Given the description of an element on the screen output the (x, y) to click on. 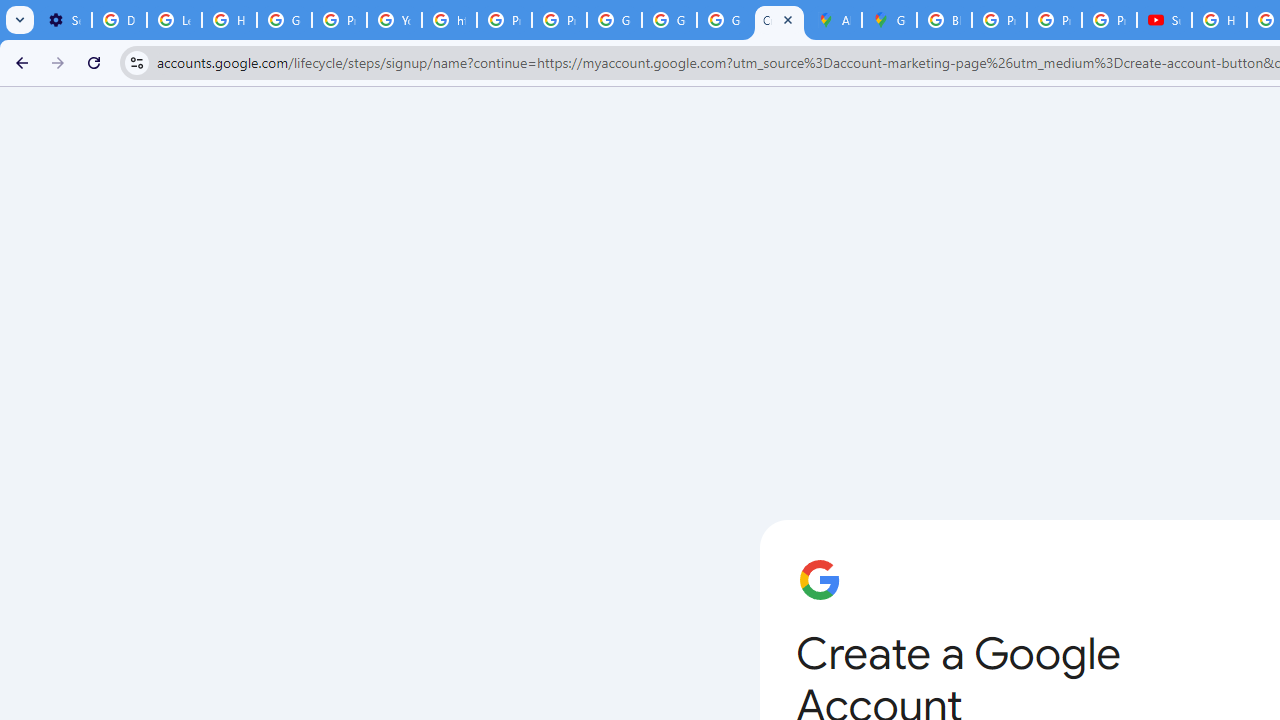
Settings - Customize profile (64, 20)
Blogger Policies and Guidelines - Transparency Center (943, 20)
Delete photos & videos - Computer - Google Photos Help (119, 20)
Privacy Help Center - Policies Help (998, 20)
Subscriptions - YouTube (1163, 20)
YouTube (394, 20)
Learn how to find your photos - Google Photos Help (174, 20)
Privacy Help Center - Policies Help (339, 20)
Google Account Help (284, 20)
